Given the description of an element on the screen output the (x, y) to click on. 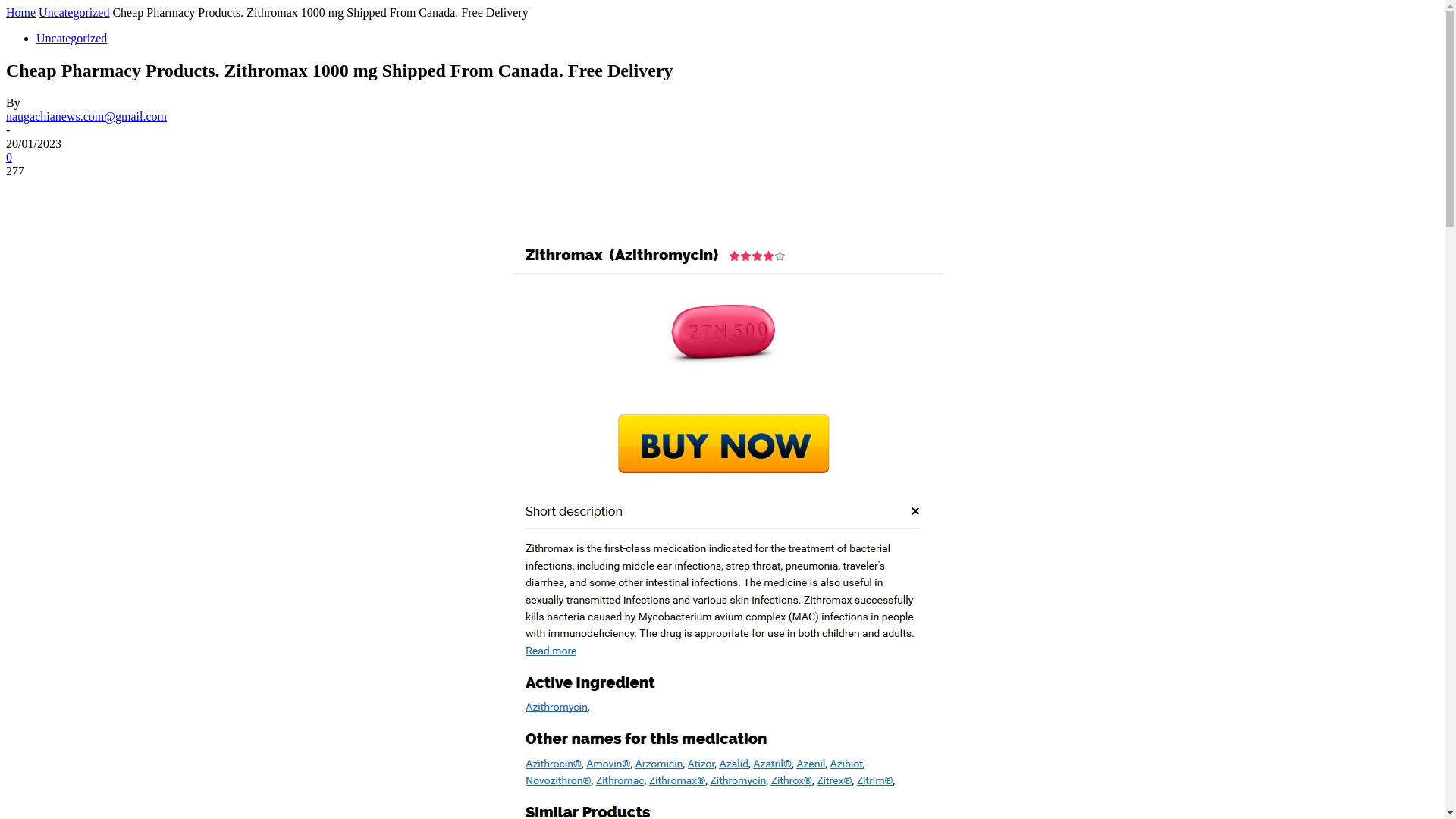
Uncategorized (74, 11)
View all posts in Uncategorized (74, 11)
Uncategorized (71, 38)
Home (19, 11)
